Given the description of an element on the screen output the (x, y) to click on. 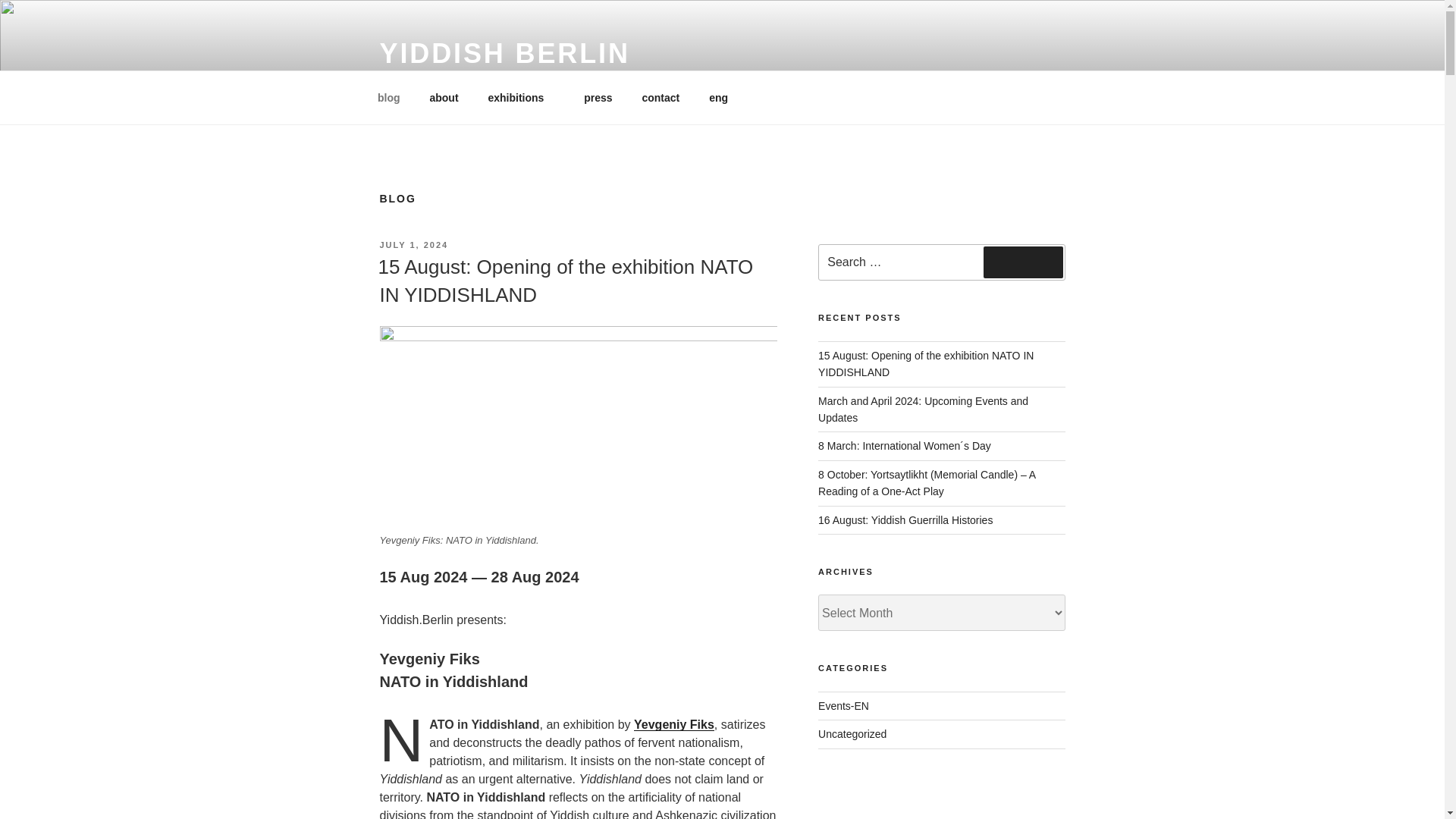
YIDDISH BERLIN (503, 52)
blog (388, 97)
contact (660, 97)
eng (723, 97)
Yevgeniy Fiks (673, 724)
15 August: Opening of the exhibition NATO IN YIDDISHLAND (564, 280)
exhibitions (520, 97)
JULY 1, 2024 (413, 244)
about (443, 97)
press (598, 97)
